Given the description of an element on the screen output the (x, y) to click on. 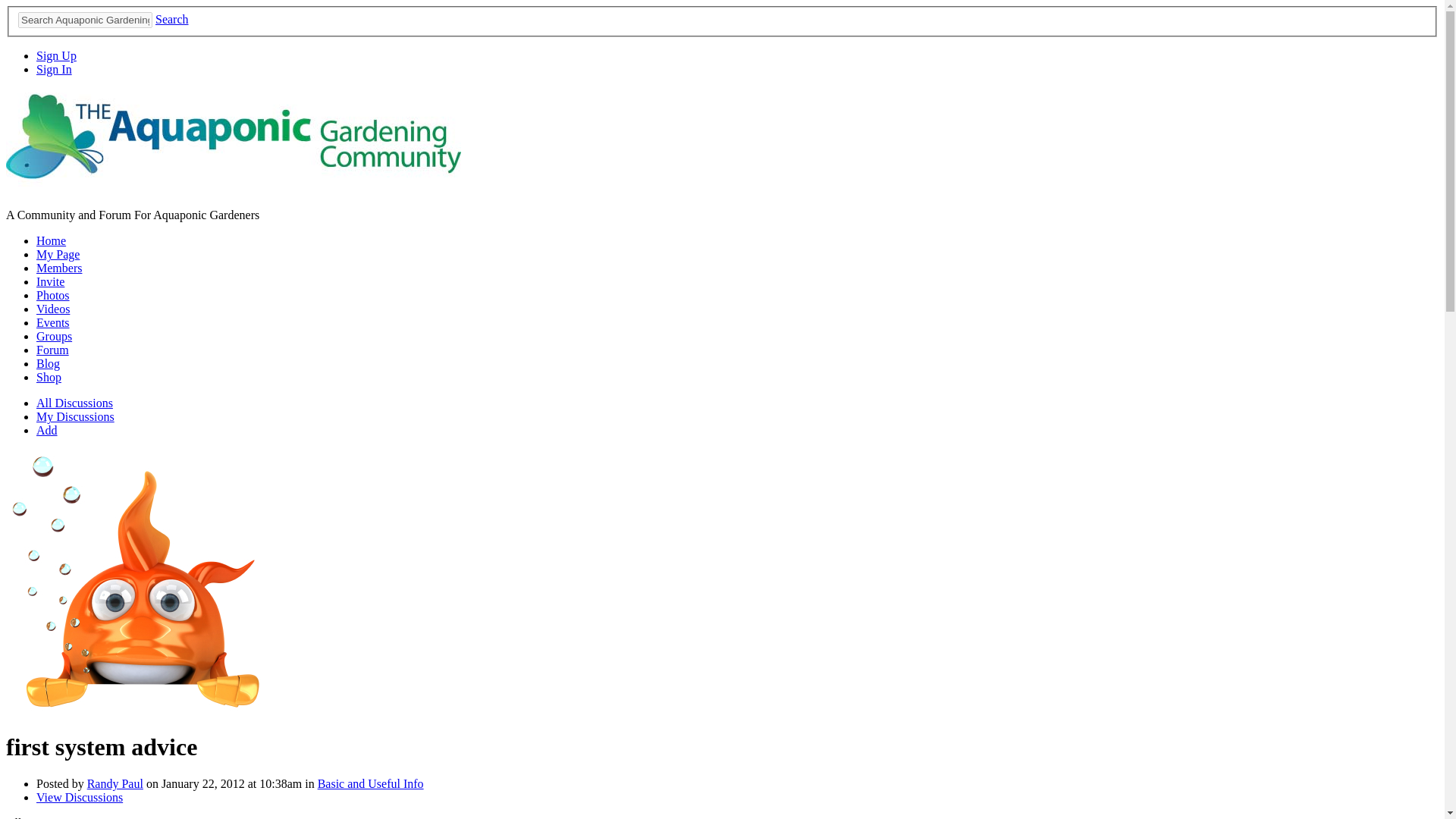
Randy Paul (136, 708)
Sign Up (56, 55)
Videos (52, 308)
My Discussions (75, 416)
Basic and Useful Info (370, 783)
Search (172, 19)
Forum (52, 349)
Shop (48, 377)
Groups (53, 336)
Add (47, 430)
All Discussions (74, 402)
Invite (50, 281)
Blog (47, 363)
Search Aquaponic Gardening (84, 19)
Photos (52, 295)
